Given the description of an element on the screen output the (x, y) to click on. 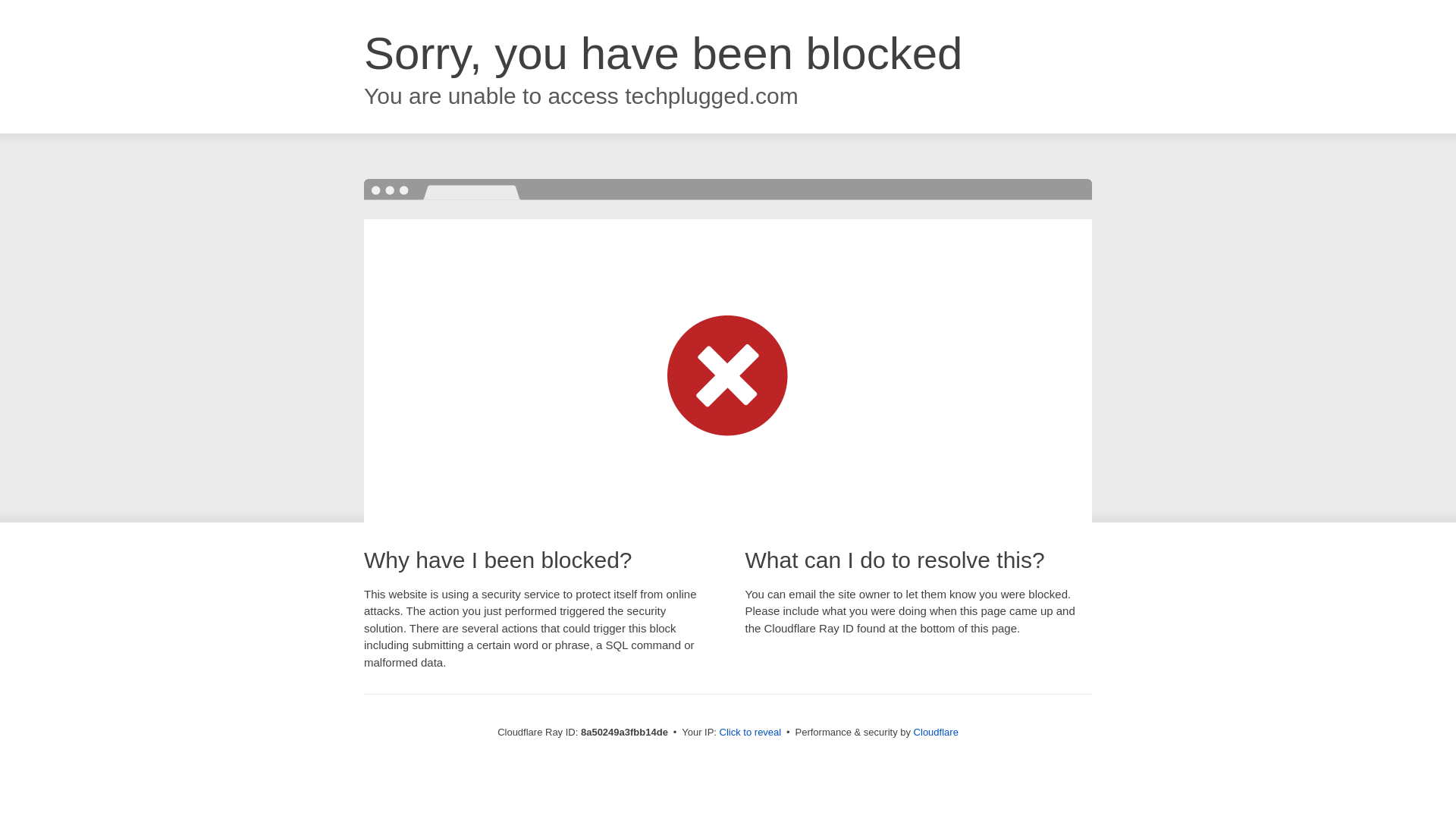
Click to reveal (750, 732)
Cloudflare (936, 731)
